Given the description of an element on the screen output the (x, y) to click on. 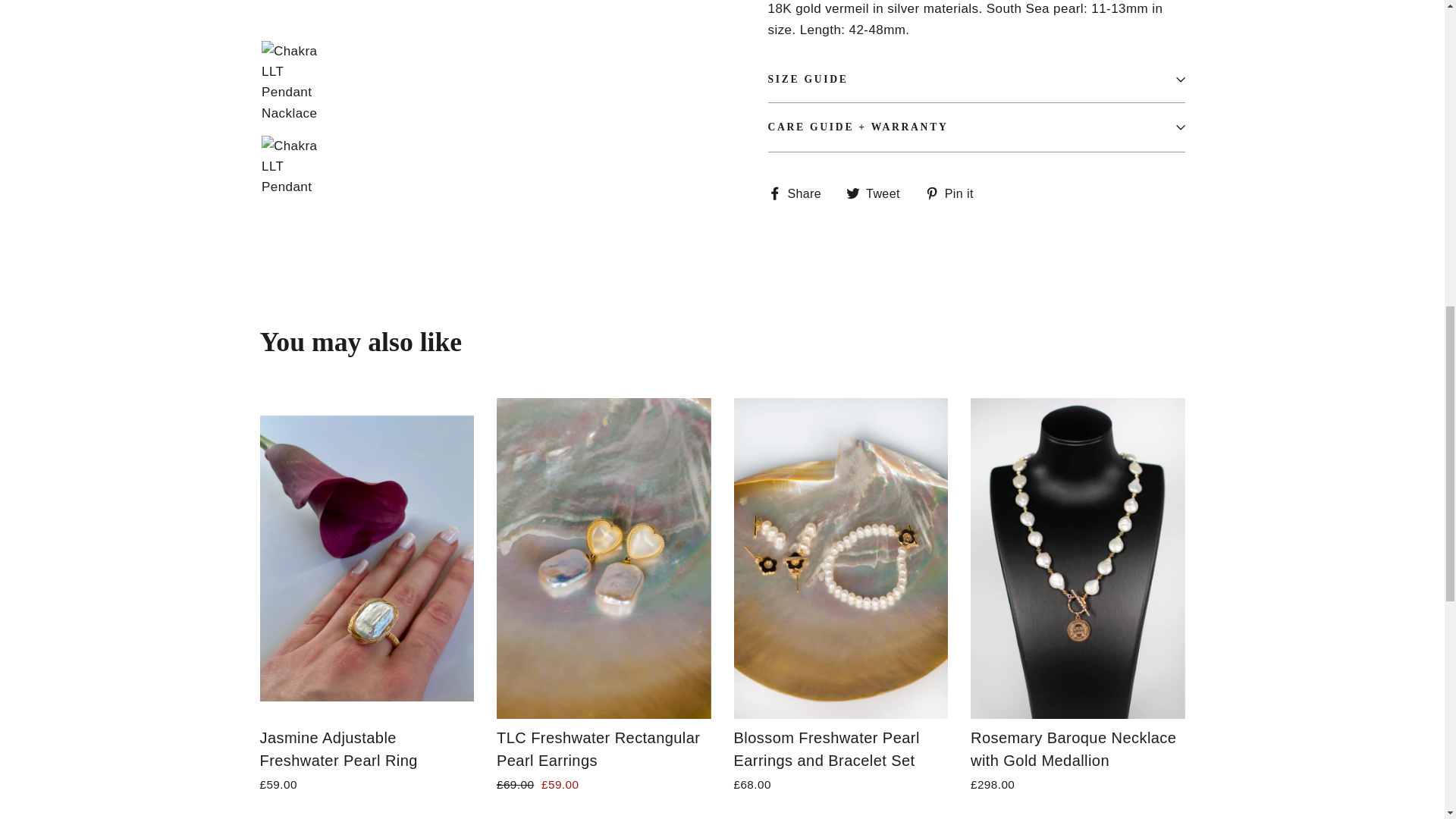
Pin on Pinterest (954, 193)
Share on Facebook (799, 193)
Tweet on Twitter (878, 193)
